Given the description of an element on the screen output the (x, y) to click on. 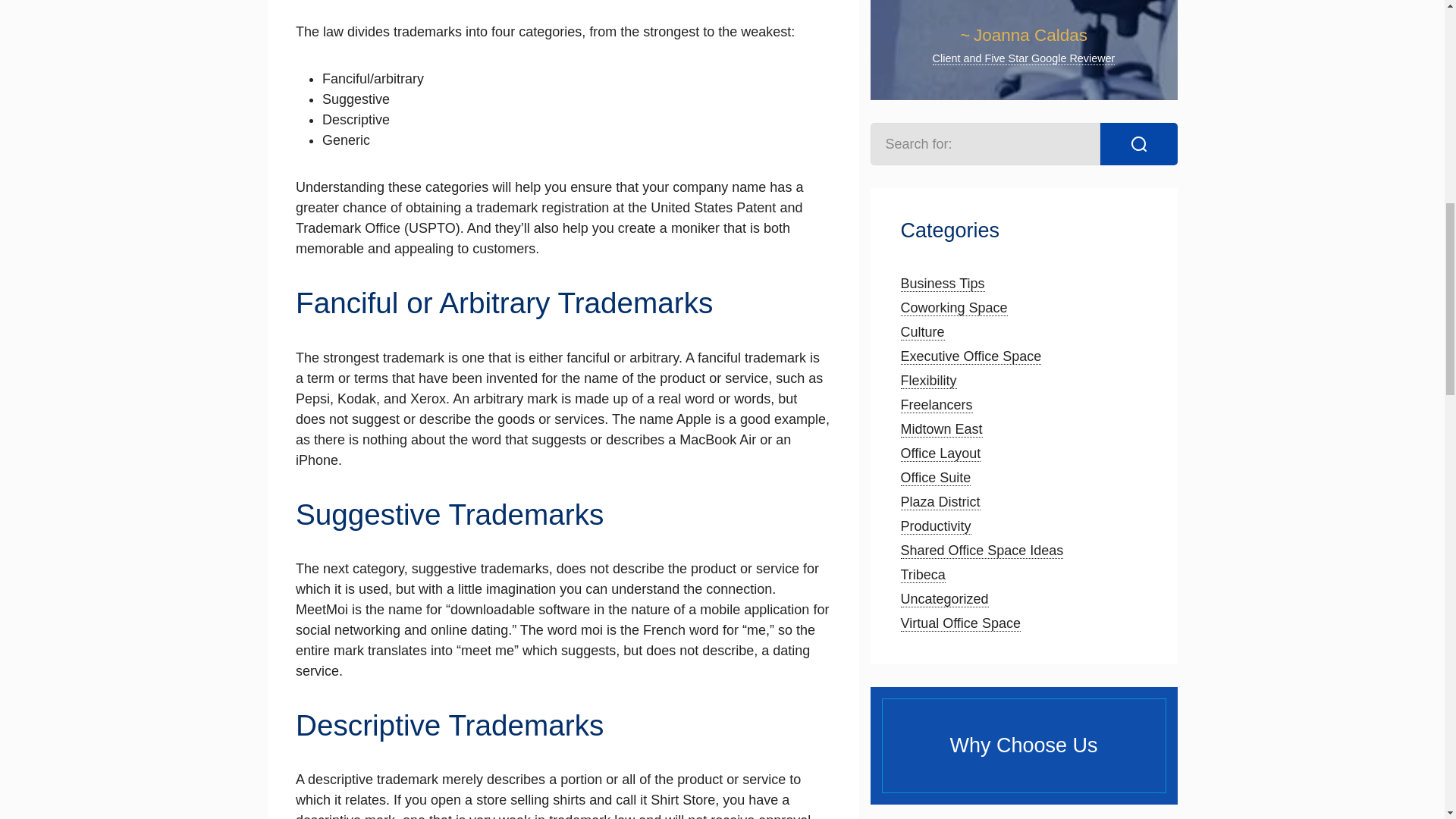
Coworking Space (954, 308)
Culture (922, 332)
Flexibility (928, 381)
Executive Office Space (971, 356)
Business Tips (943, 283)
Freelancers (936, 405)
Office Layout (941, 453)
Productivity (936, 526)
Midtown East (941, 429)
Plaza District (940, 502)
Office Suite (936, 478)
Client and Five Star Google Reviewer (1024, 58)
